Given the description of an element on the screen output the (x, y) to click on. 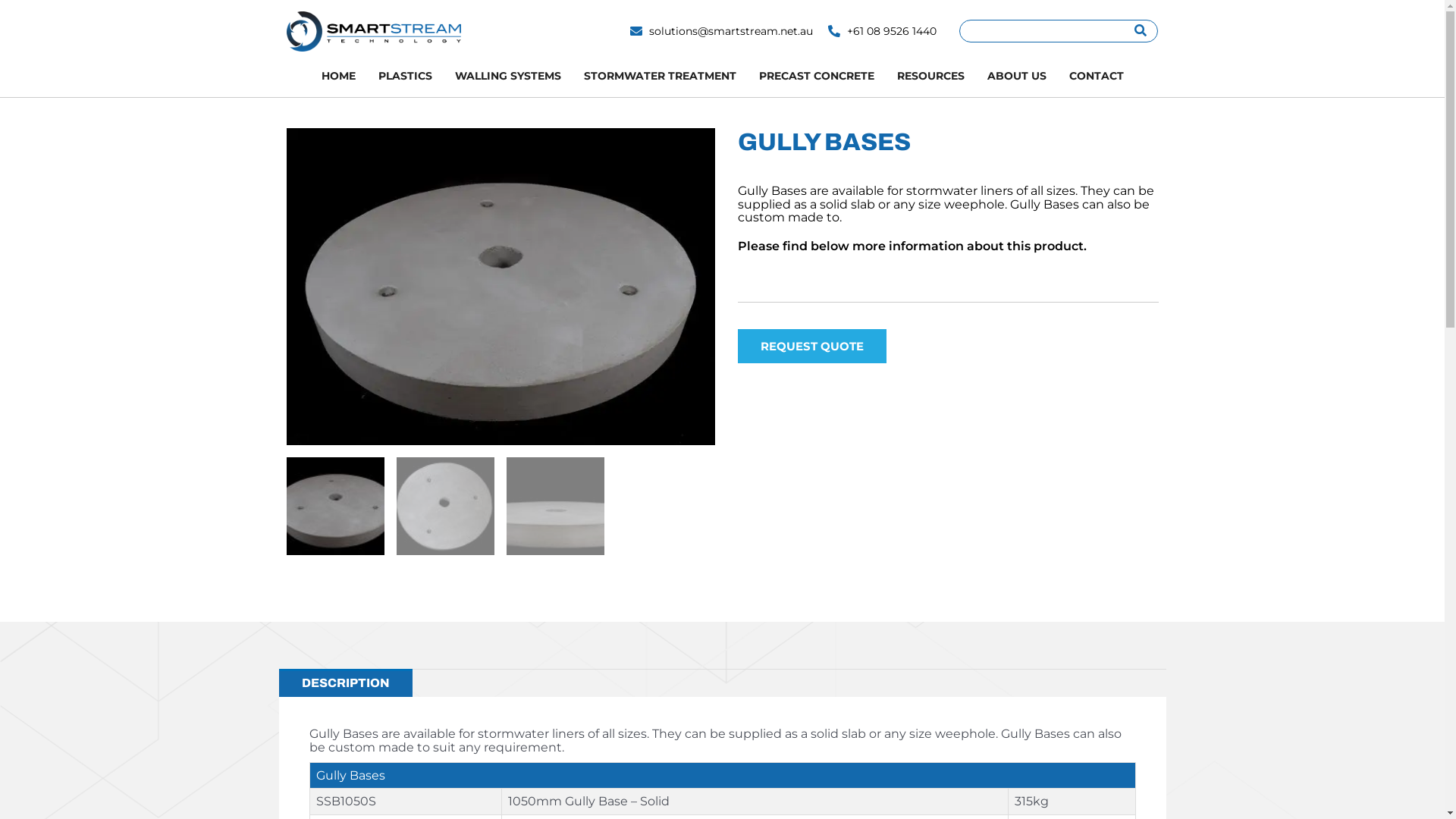
WALLING SYSTEMS Element type: text (506, 76)
PLASTICS Element type: text (405, 76)
CONTACT Element type: text (1095, 76)
HOME Element type: text (337, 76)
+61 08 9526 1440 Element type: text (882, 31)
STORMWATER TREATMENT Element type: text (658, 76)
RESOURCES Element type: text (930, 76)
REQUEST QUOTE Element type: text (811, 346)
DESCRIPTION Element type: text (345, 682)
ABOUT US Element type: text (1016, 76)
solutions@smartstream.net.au Element type: text (721, 31)
PRECAST CONCRETE Element type: text (816, 76)
